Given the description of an element on the screen output the (x, y) to click on. 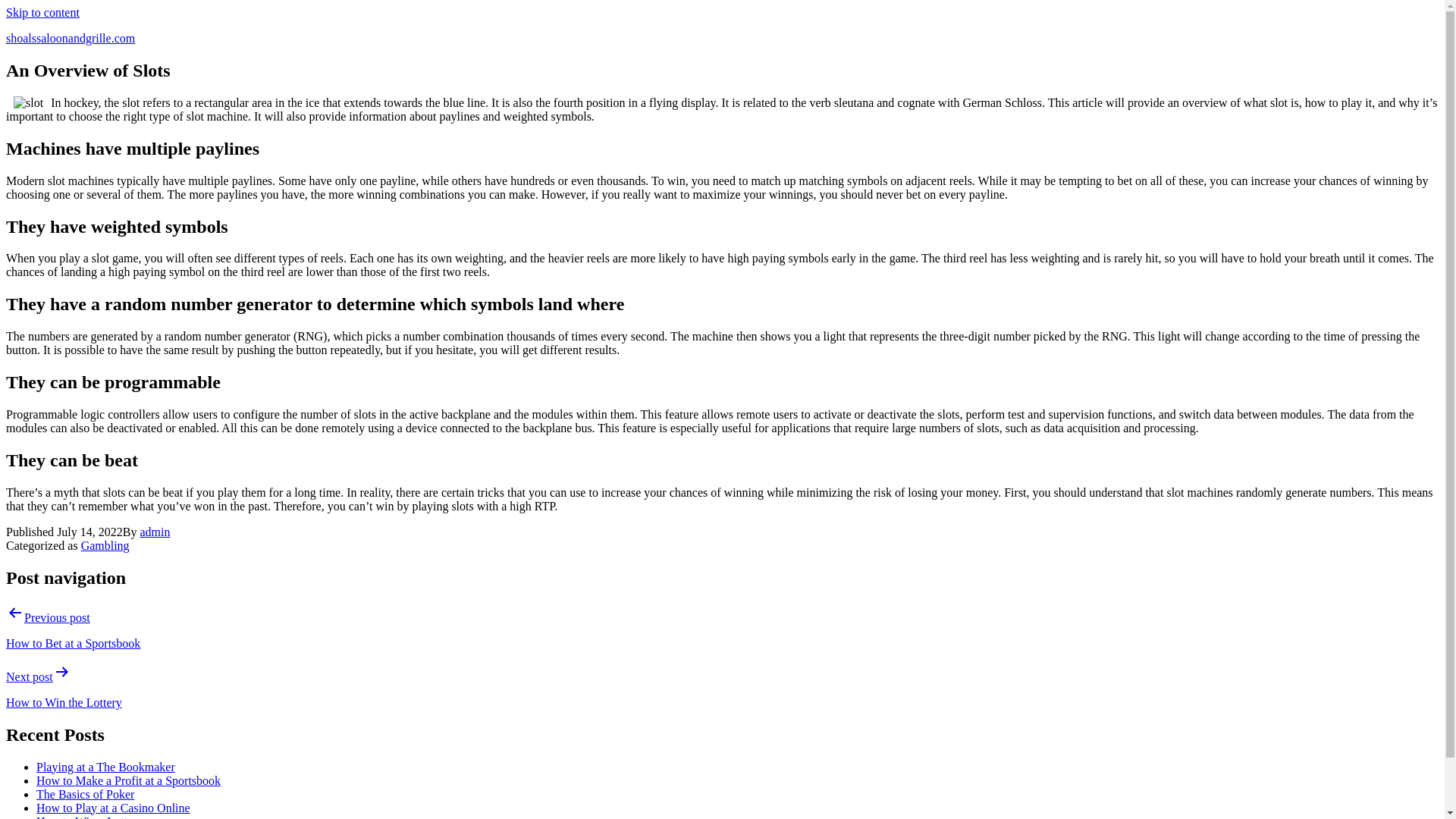
shoalssaloonandgrille.com (70, 38)
Playing at a The Bookmaker (105, 766)
How to Play at a Casino Online (113, 807)
Skip to content (42, 11)
How to Win a Lottery (89, 816)
The Basics of Poker (84, 793)
admin (154, 531)
How to Make a Profit at a Sportsbook (128, 779)
Gambling (105, 545)
